Given the description of an element on the screen output the (x, y) to click on. 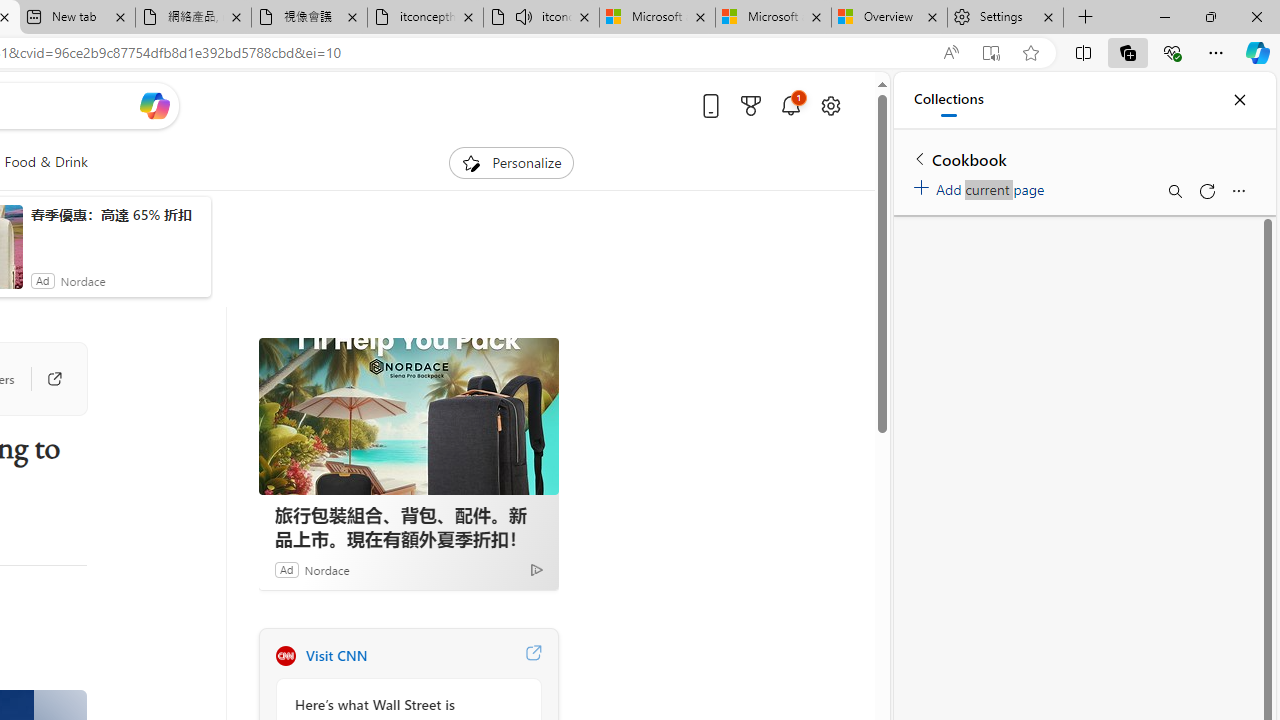
Back to list of collections (920, 158)
itconcepthk.com/projector_solutions.mp4 (424, 17)
Enter Immersive Reader (F9) (991, 53)
Overview (889, 17)
